Given the description of an element on the screen output the (x, y) to click on. 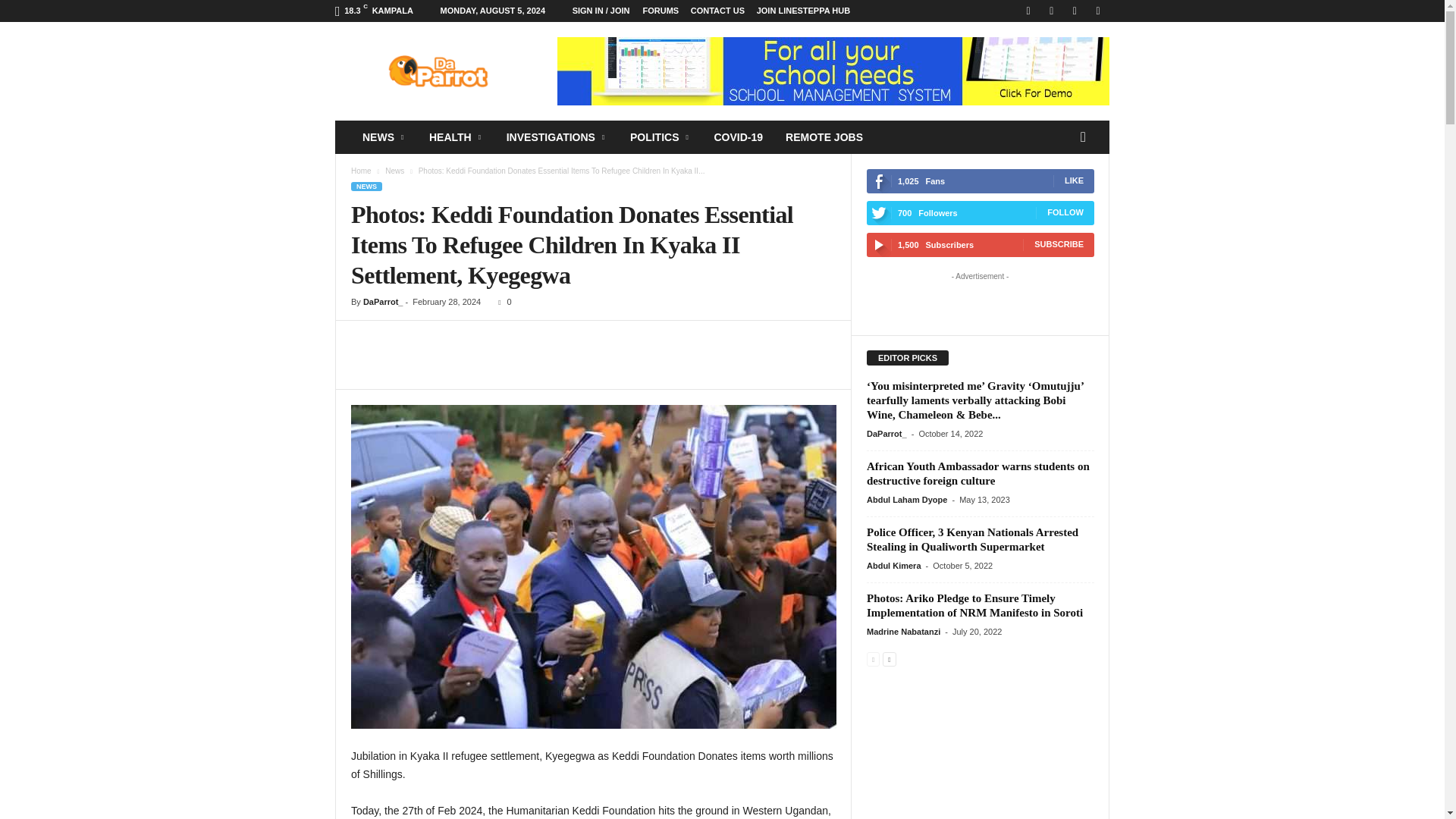
CONTACT US (717, 10)
FORUMS (660, 10)
JOIN LINESTEPPA HUB (803, 10)
NEWS (383, 136)
